Given the description of an element on the screen output the (x, y) to click on. 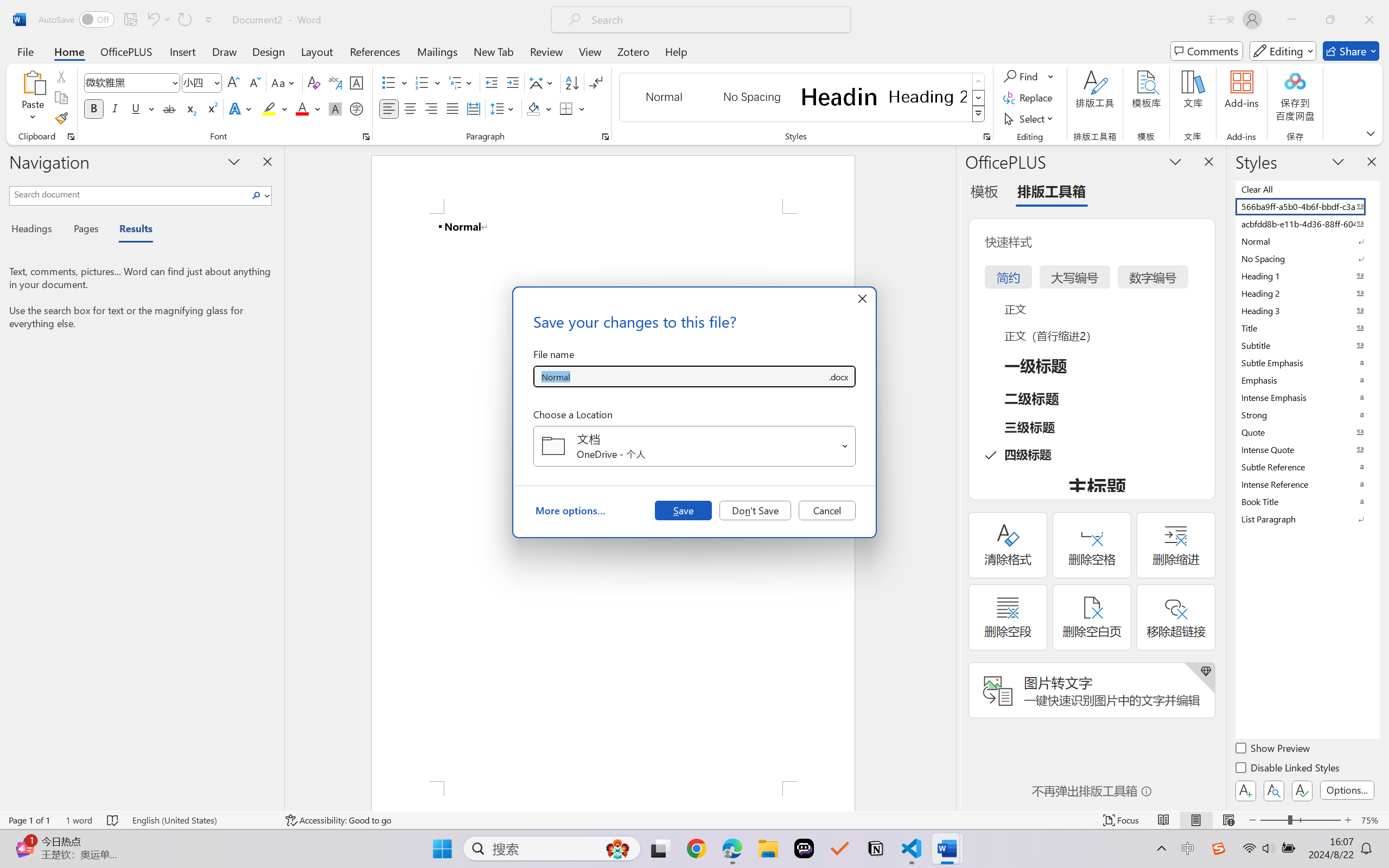
Distributed (473, 108)
Numbering (428, 82)
Mode (1283, 50)
Format Painter (60, 118)
Notion (875, 848)
OfficePLUS (126, 51)
Undo Text Fill Effect (152, 19)
Text Effects and Typography (241, 108)
Font Size (196, 82)
